Given the description of an element on the screen output the (x, y) to click on. 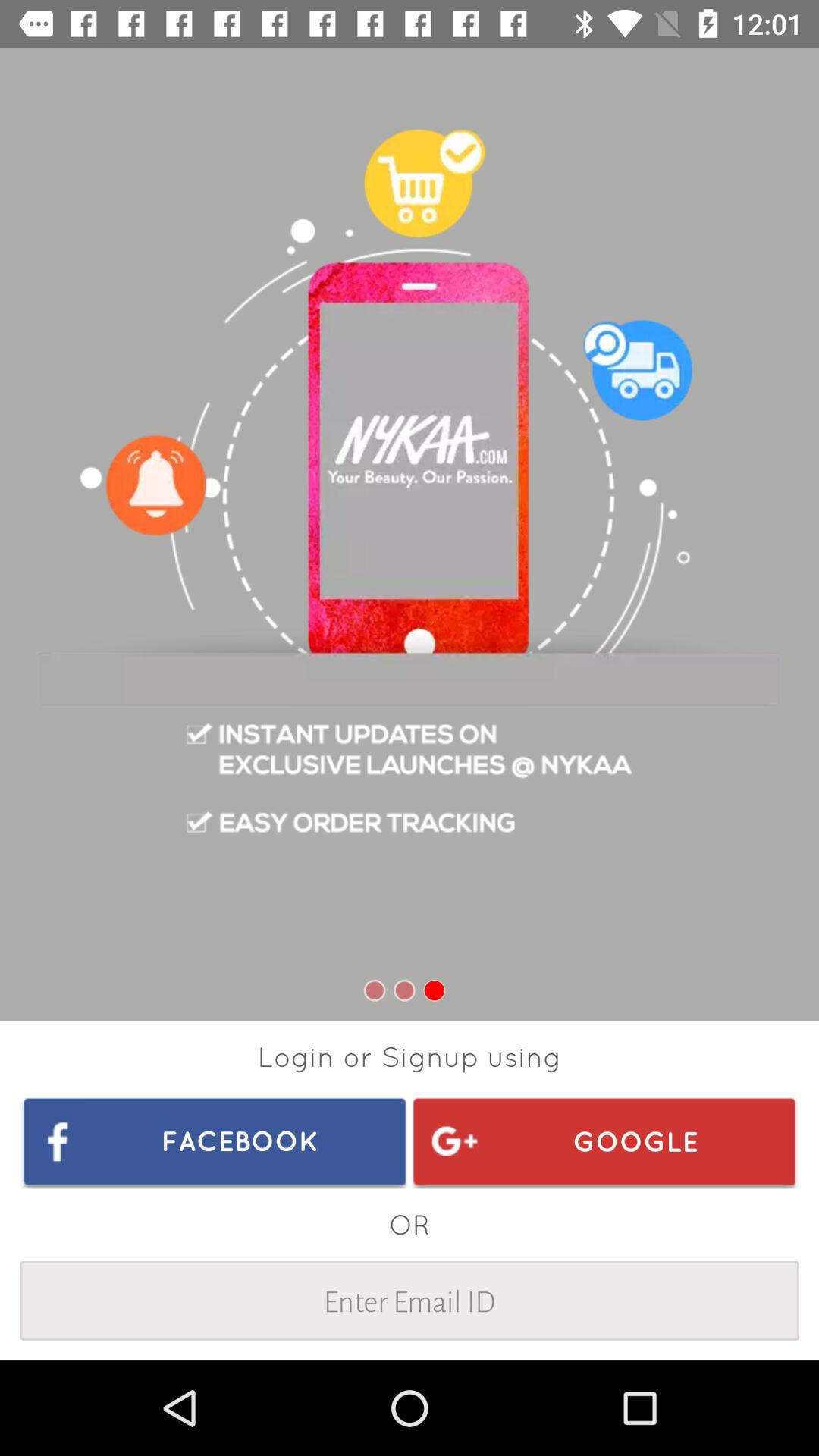
press item below the login or signup (214, 1140)
